Given the description of an element on the screen output the (x, y) to click on. 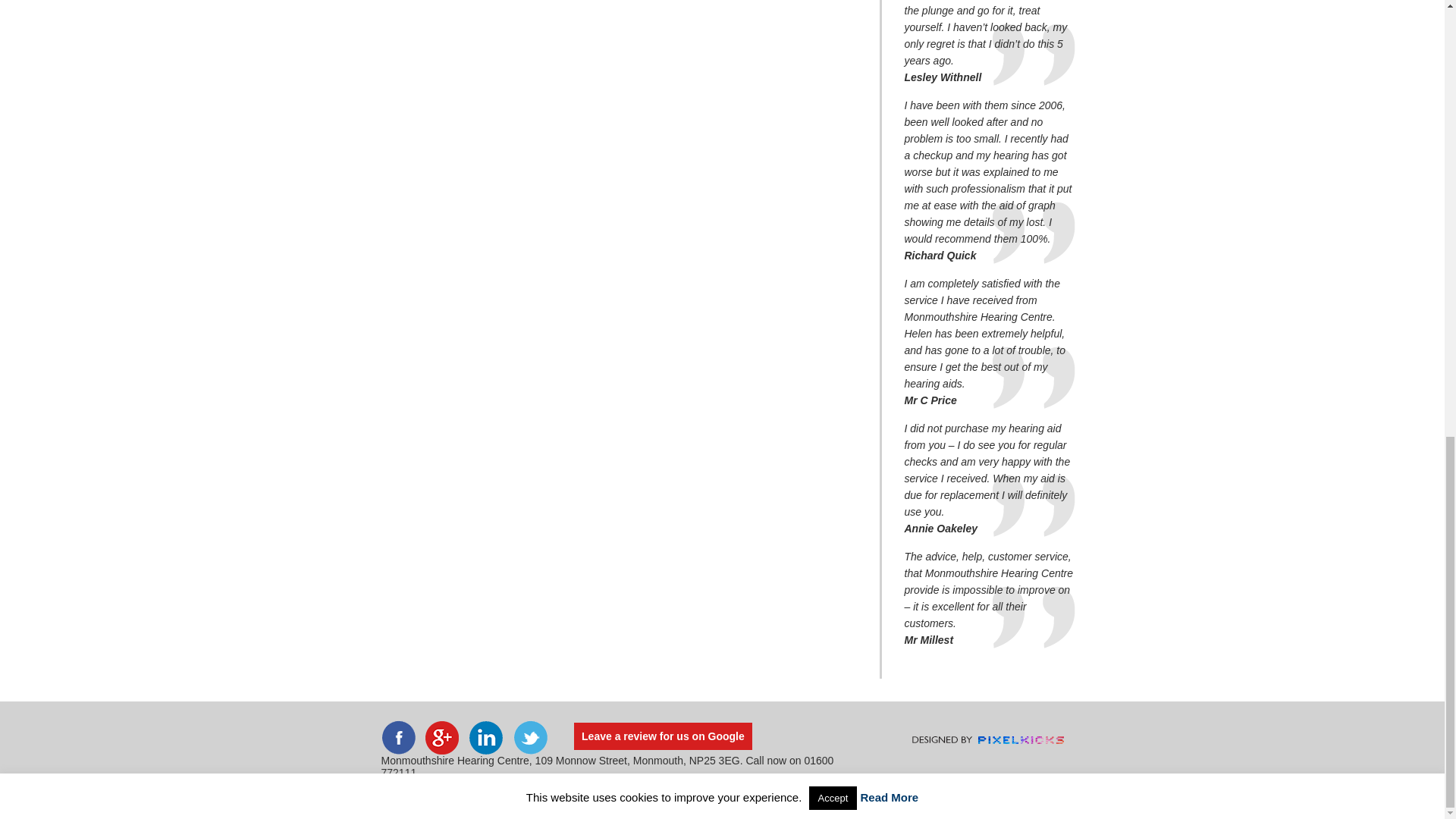
Cookies (1001, 784)
Leave a review for us on Google (662, 736)
Site Map (1044, 784)
Privacy Policy (944, 784)
